Given the description of an element on the screen output the (x, y) to click on. 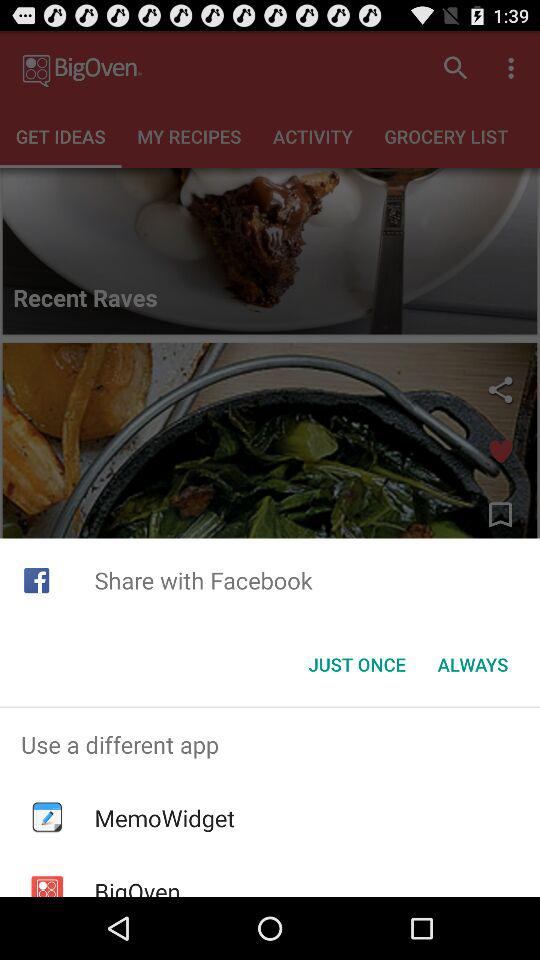
choose the just once icon (356, 664)
